Given the description of an element on the screen output the (x, y) to click on. 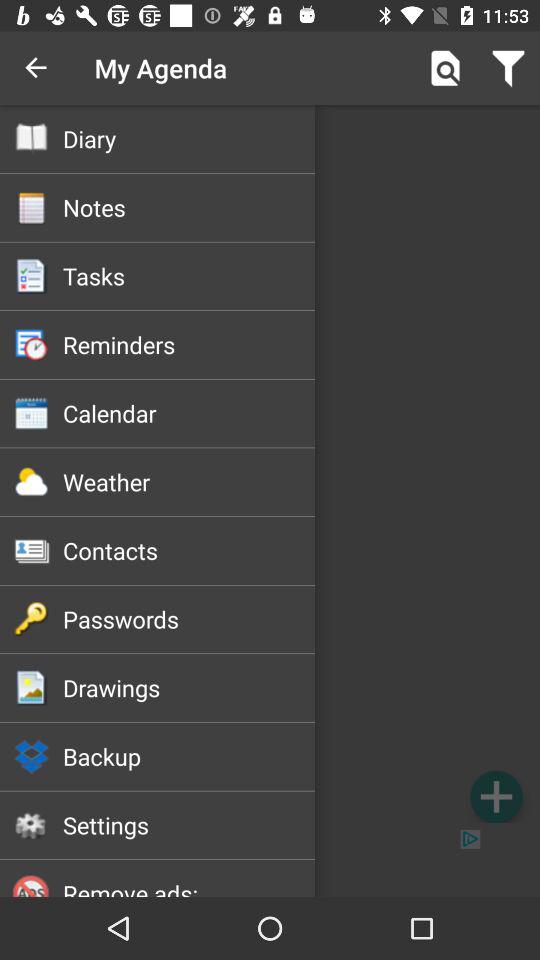
turn off the icon below reminders item (188, 413)
